Given the description of an element on the screen output the (x, y) to click on. 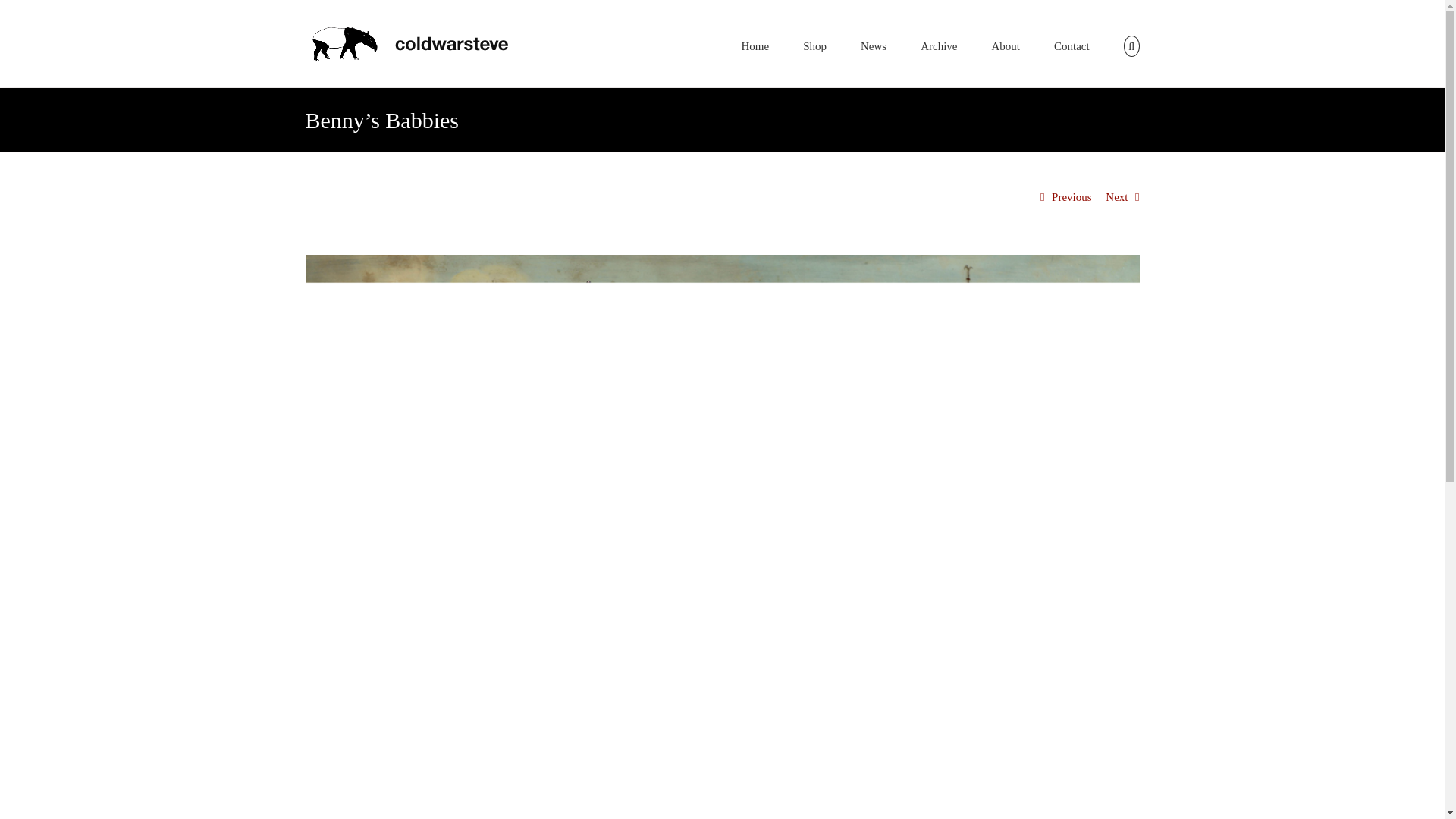
Previous (1071, 196)
